Given the description of an element on the screen output the (x, y) to click on. 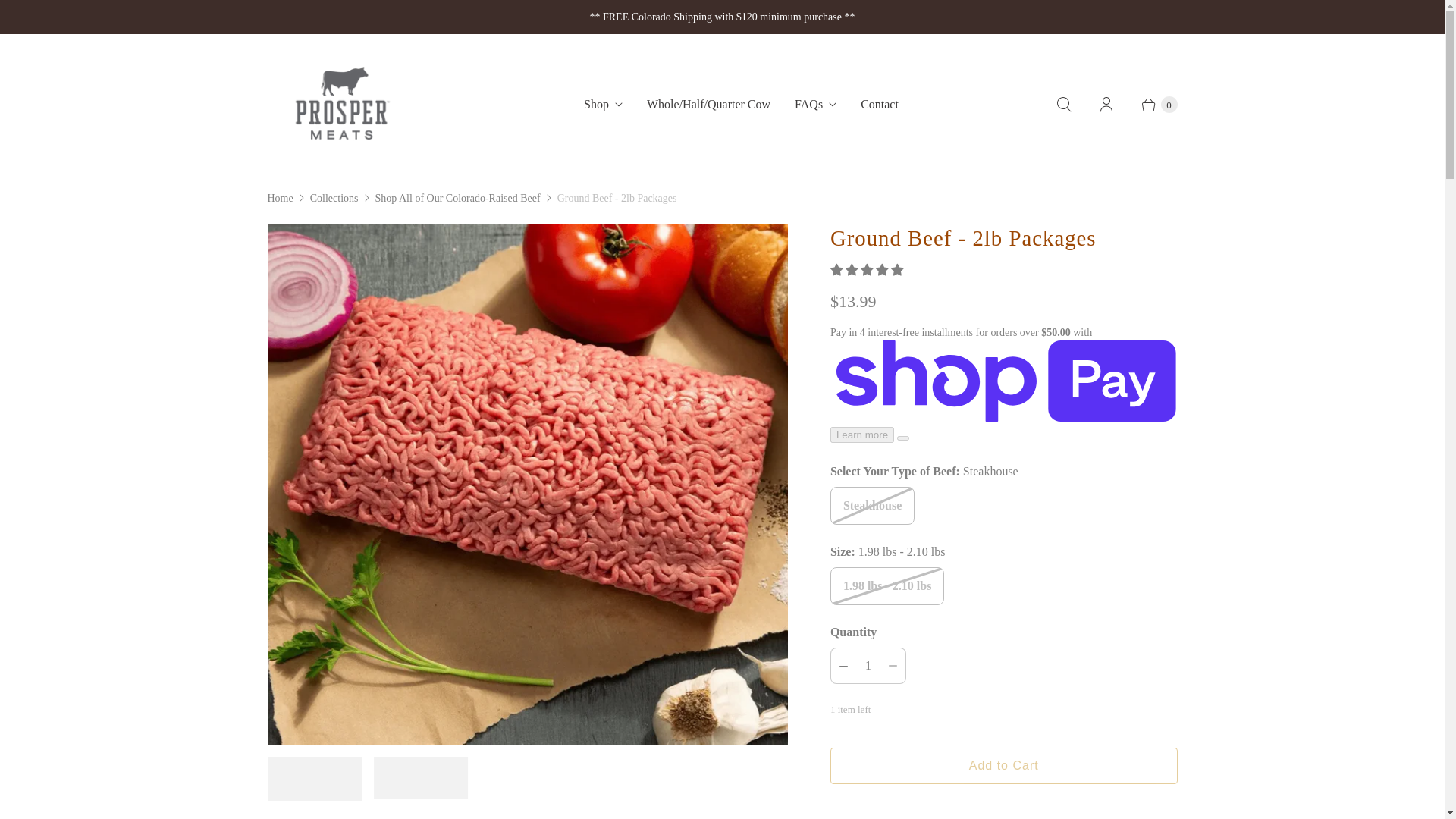
0 (1151, 104)
Contact (879, 104)
